Given the description of an element on the screen output the (x, y) to click on. 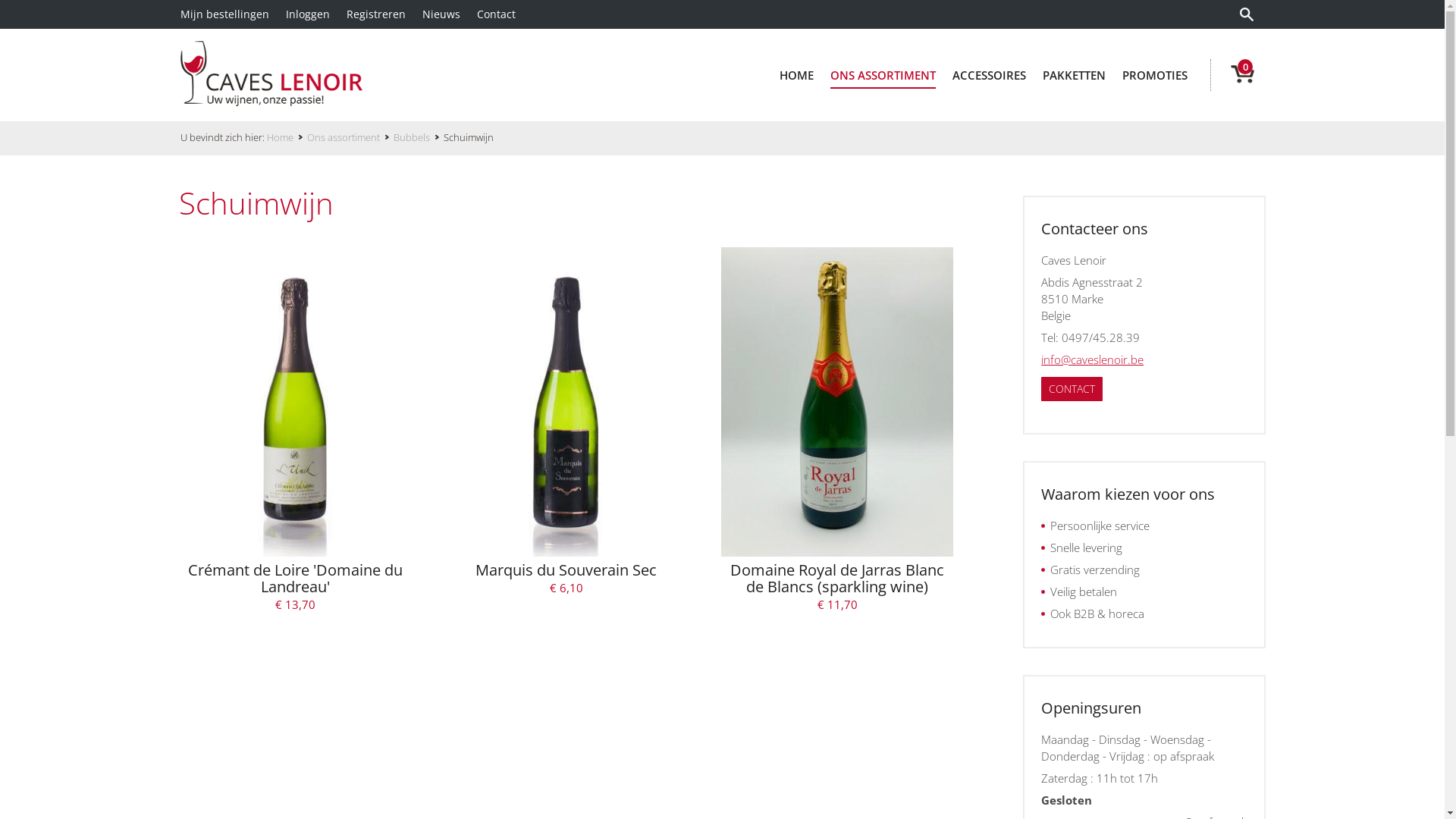
  Element type: text (1248, 14)
Contact Element type: text (504, 14)
Inloggen Element type: text (315, 14)
CONTACT Element type: text (1071, 388)
ACCESSOIRES Element type: text (989, 73)
Registreren Element type: text (384, 14)
Zoeken Element type: hover (1248, 14)
HOME Element type: text (796, 73)
Mijn bestellingen Element type: text (232, 14)
PAKKETTEN Element type: text (1073, 73)
Home Element type: text (286, 137)
PROMOTIES Element type: text (1154, 73)
info@caveslenoir.be Element type: text (1092, 359)
Schuimwijn Element type: text (565, 202)
Domaine Royal de Jarras Blanc de Blancs (sparkling wine) Element type: hover (837, 401)
0 Element type: text (1233, 75)
Nieuws Element type: text (449, 14)
Marquis du Souverain Sec Element type: hover (566, 401)
Bubbels Element type: text (418, 137)
ONS ASSORTIMENT Element type: text (882, 73)
Ons assortiment Element type: text (350, 137)
